Given the description of an element on the screen output the (x, y) to click on. 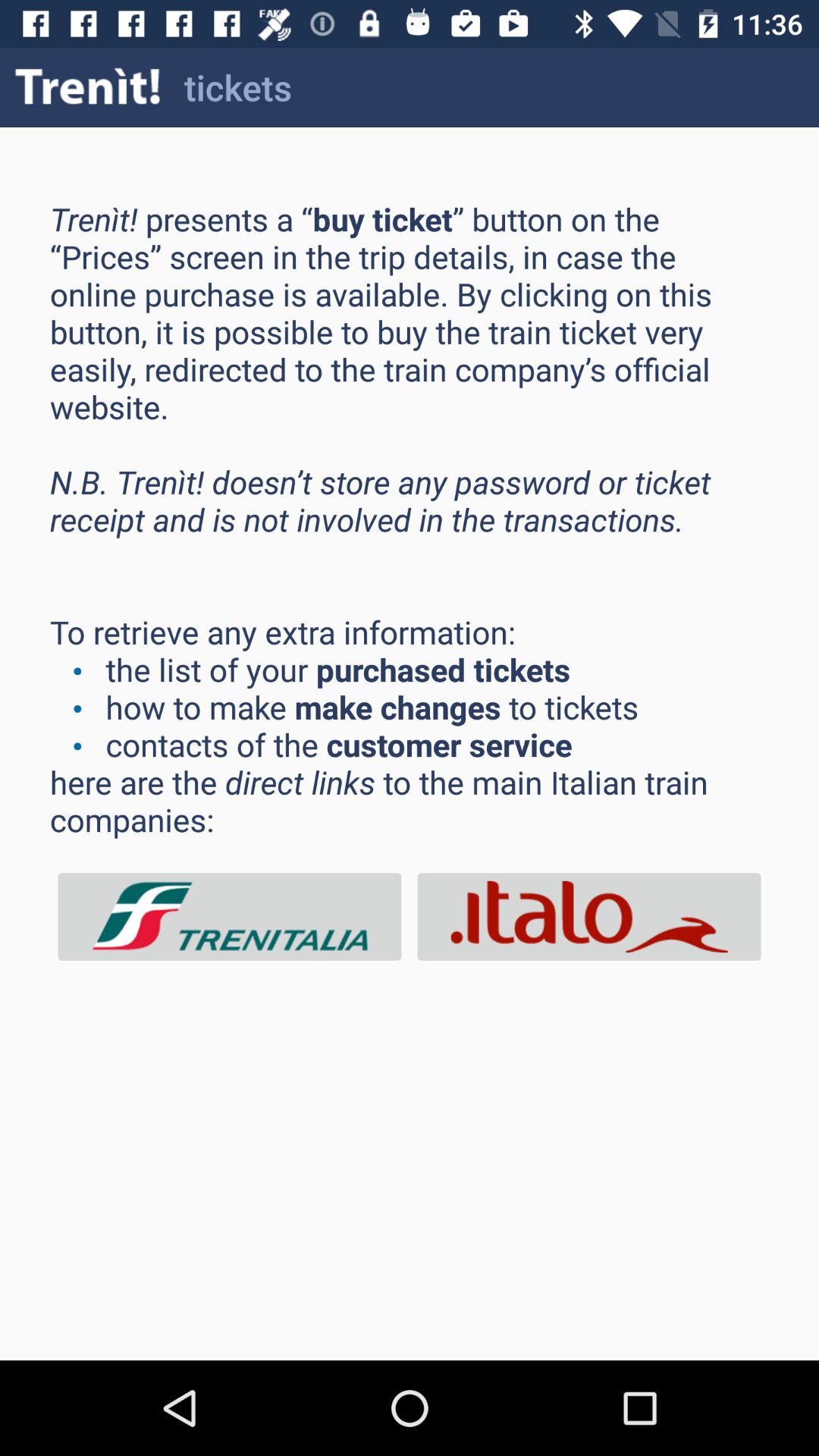
trenitilia link (229, 916)
